Given the description of an element on the screen output the (x, y) to click on. 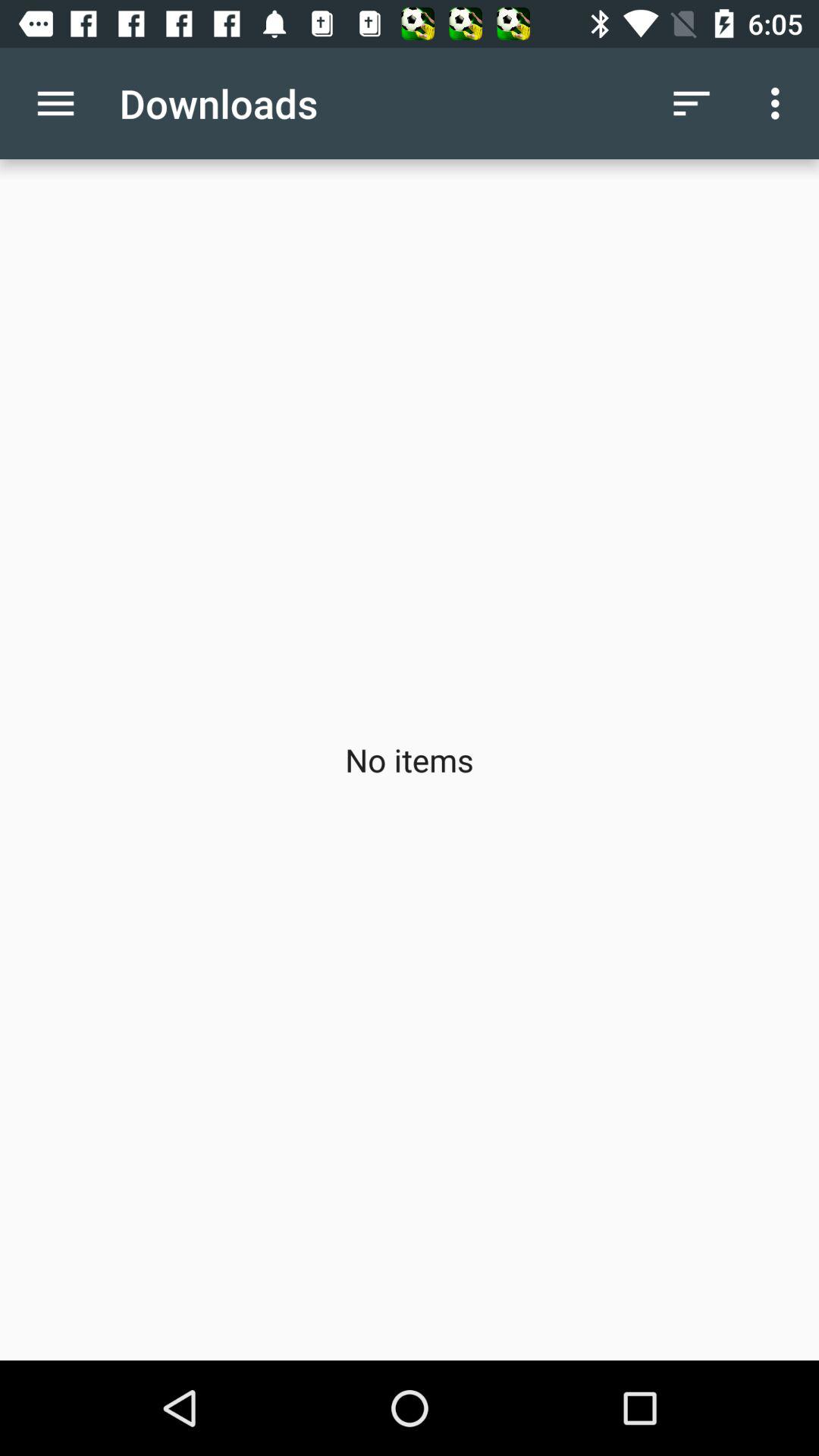
open the icon above no items (691, 103)
